Given the description of an element on the screen output the (x, y) to click on. 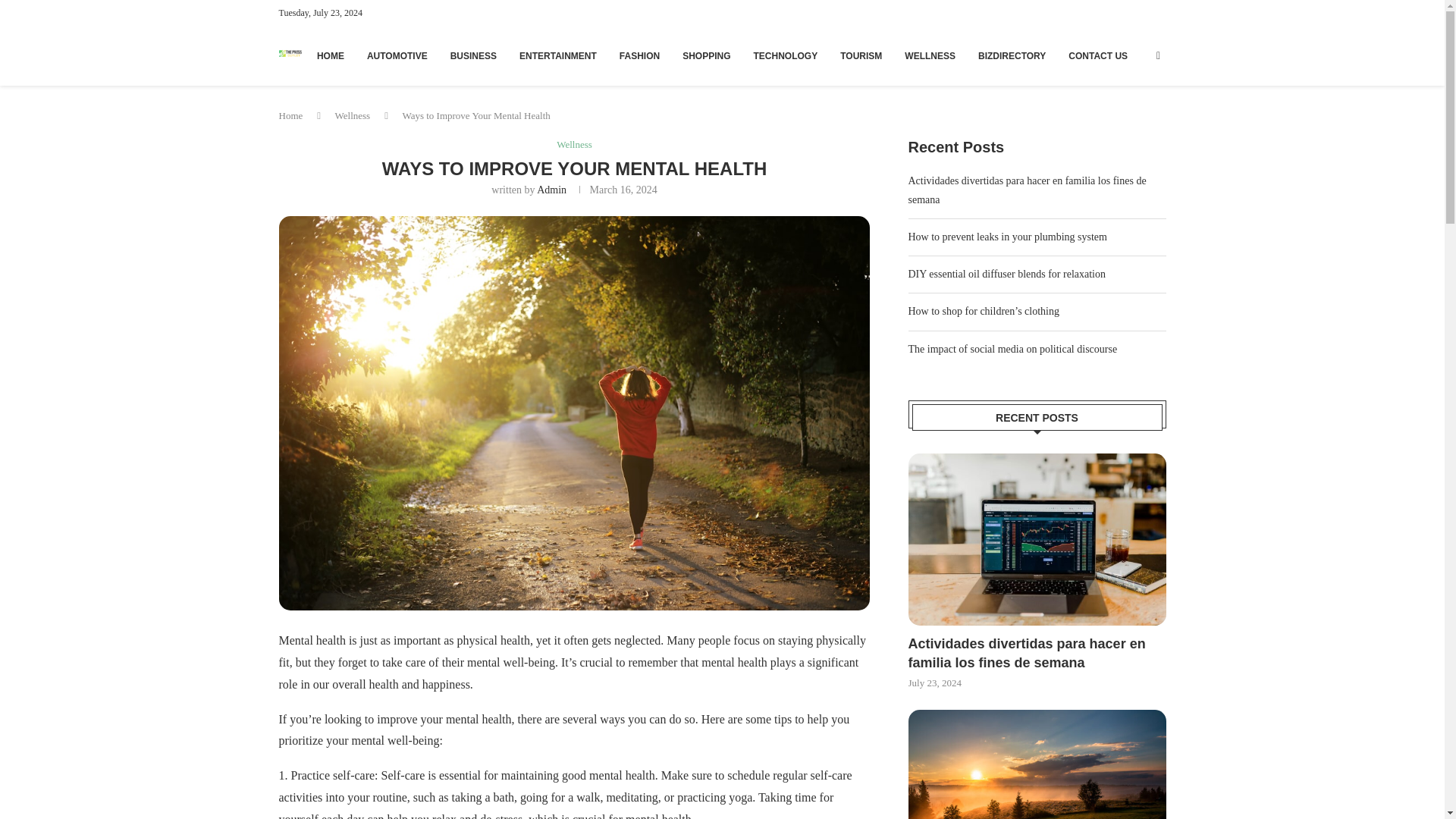
CONTACT US (1097, 55)
ENTERTAINMENT (557, 55)
WELLNESS (929, 55)
BIZDIRECTORY (1011, 55)
BUSINESS (472, 55)
AUTOMOTIVE (397, 55)
FASHION (639, 55)
TECHNOLOGY (786, 55)
TOURISM (861, 55)
SHOPPING (706, 55)
Search (1117, 84)
Search (1117, 7)
